Given the description of an element on the screen output the (x, y) to click on. 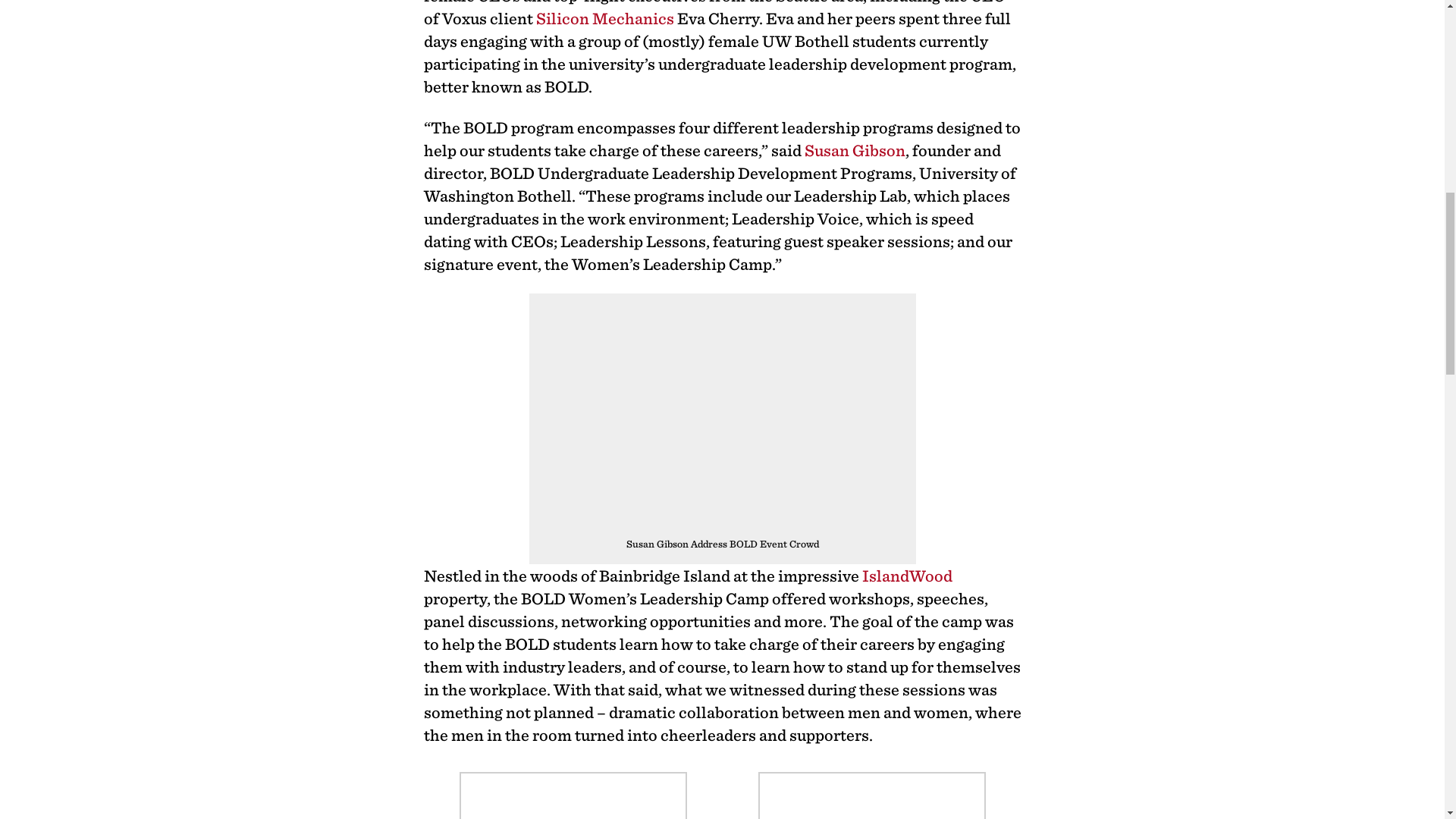
IslandWood (906, 574)
Susan Gibson (853, 149)
Silicon Mechanics (603, 17)
